Given the description of an element on the screen output the (x, y) to click on. 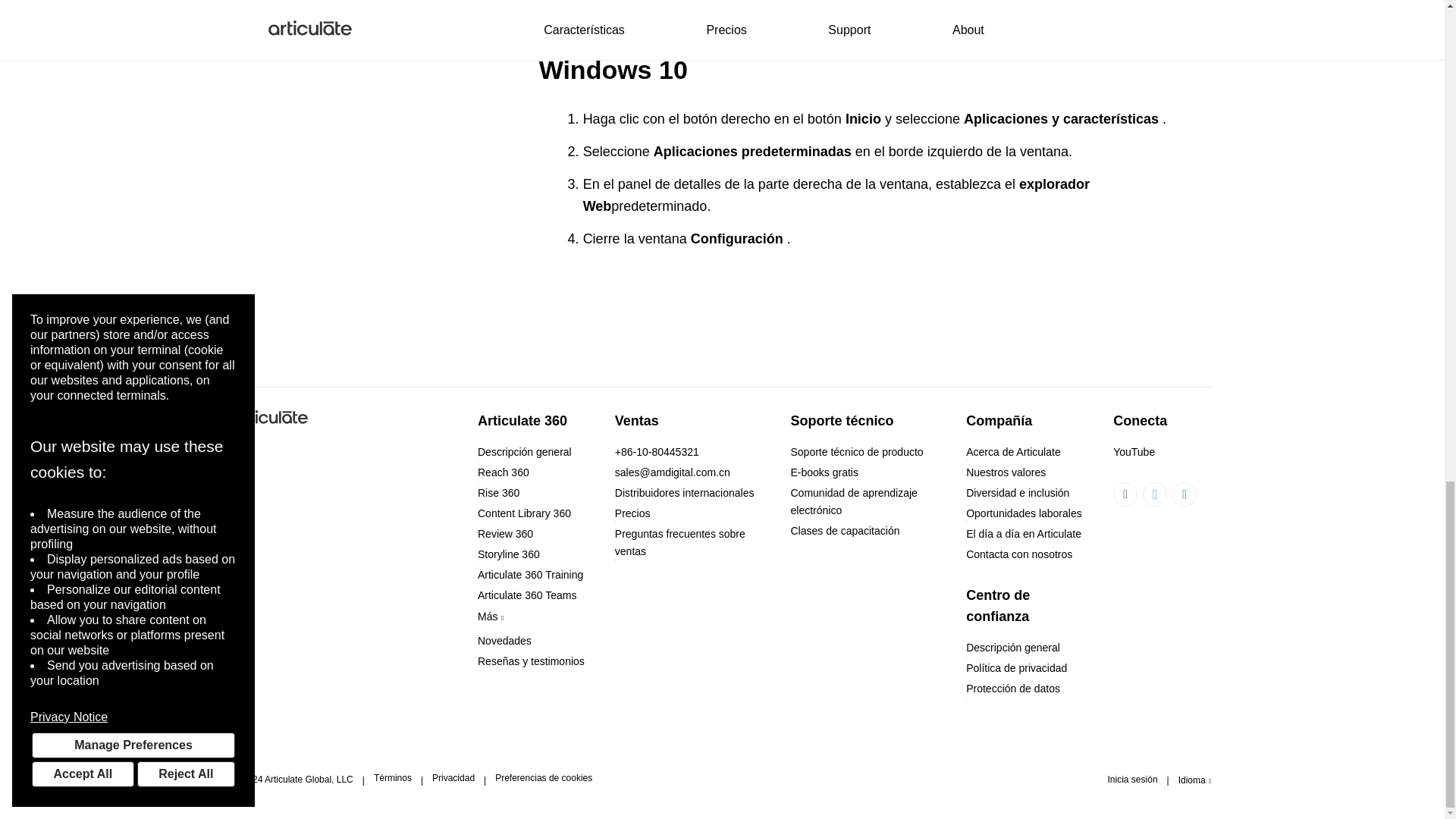
Twitter (1154, 494)
Facebook (1125, 494)
LinkedIn (1184, 494)
